Given the description of an element on the screen output the (x, y) to click on. 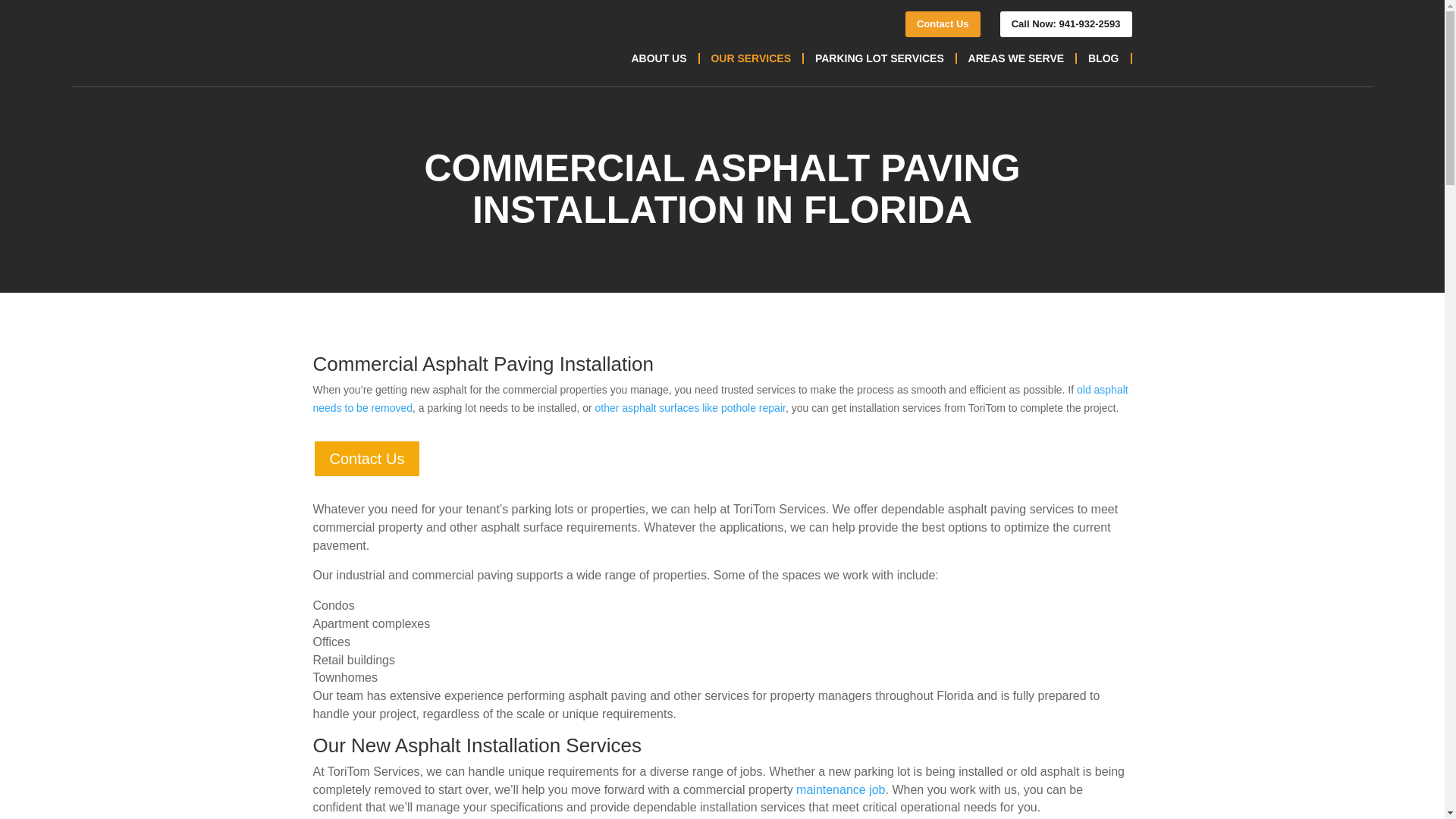
maintenance job (840, 789)
old asphalt needs to be removed (719, 399)
Call Now: 941-932-2593 (1066, 23)
other asphalt surfaces like pothole repair (689, 408)
Contact Us (942, 23)
ABOUT US (657, 58)
AREAS WE SERVE (1016, 58)
PARKING LOT SERVICES (879, 58)
OUR SERVICES (750, 58)
BLOG (1102, 58)
Contact Us (366, 458)
